Given the description of an element on the screen output the (x, y) to click on. 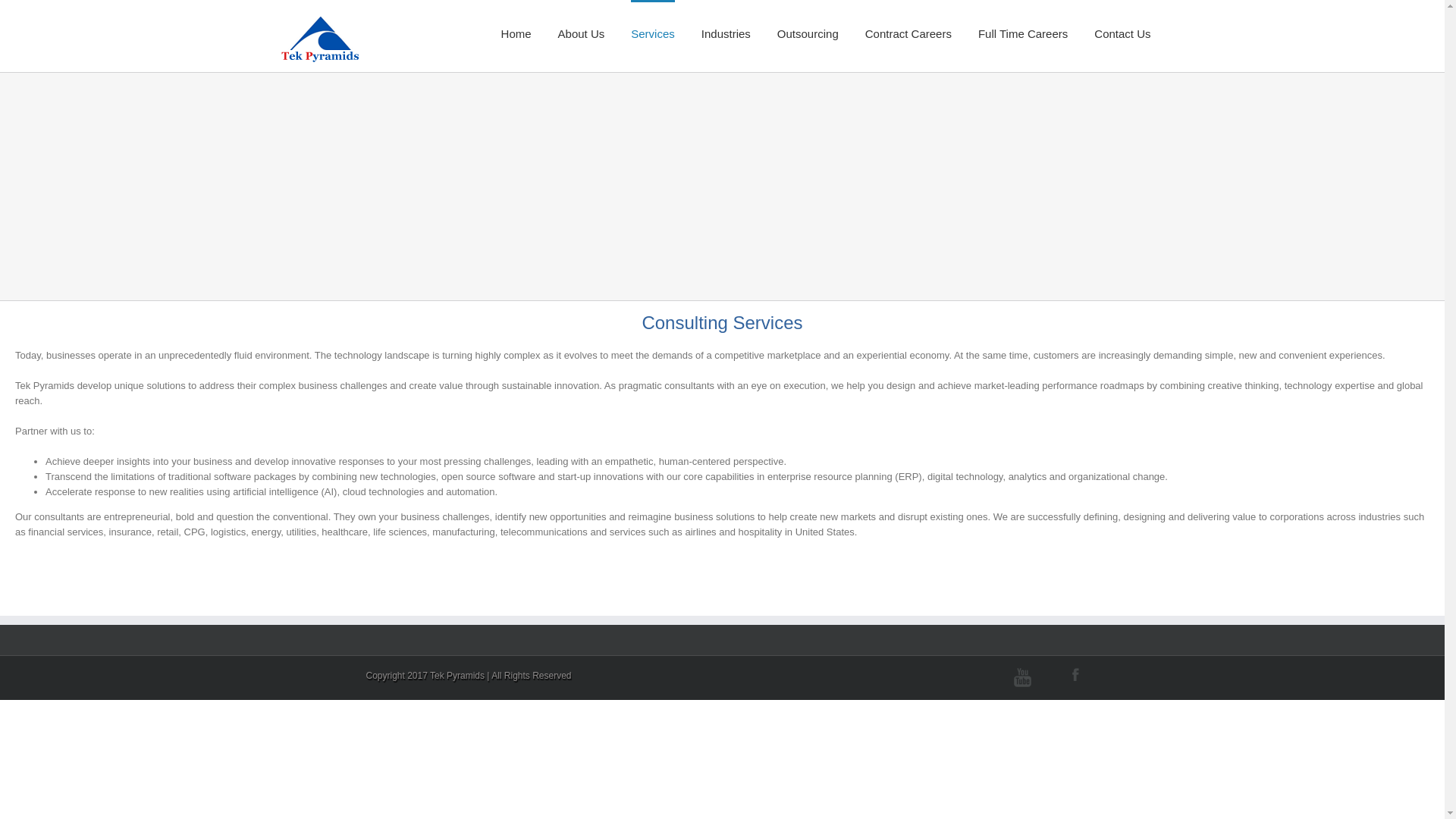
Full Time Careers (1022, 32)
Contract Careers (908, 32)
Outsourcing (807, 32)
